Given the description of an element on the screen output the (x, y) to click on. 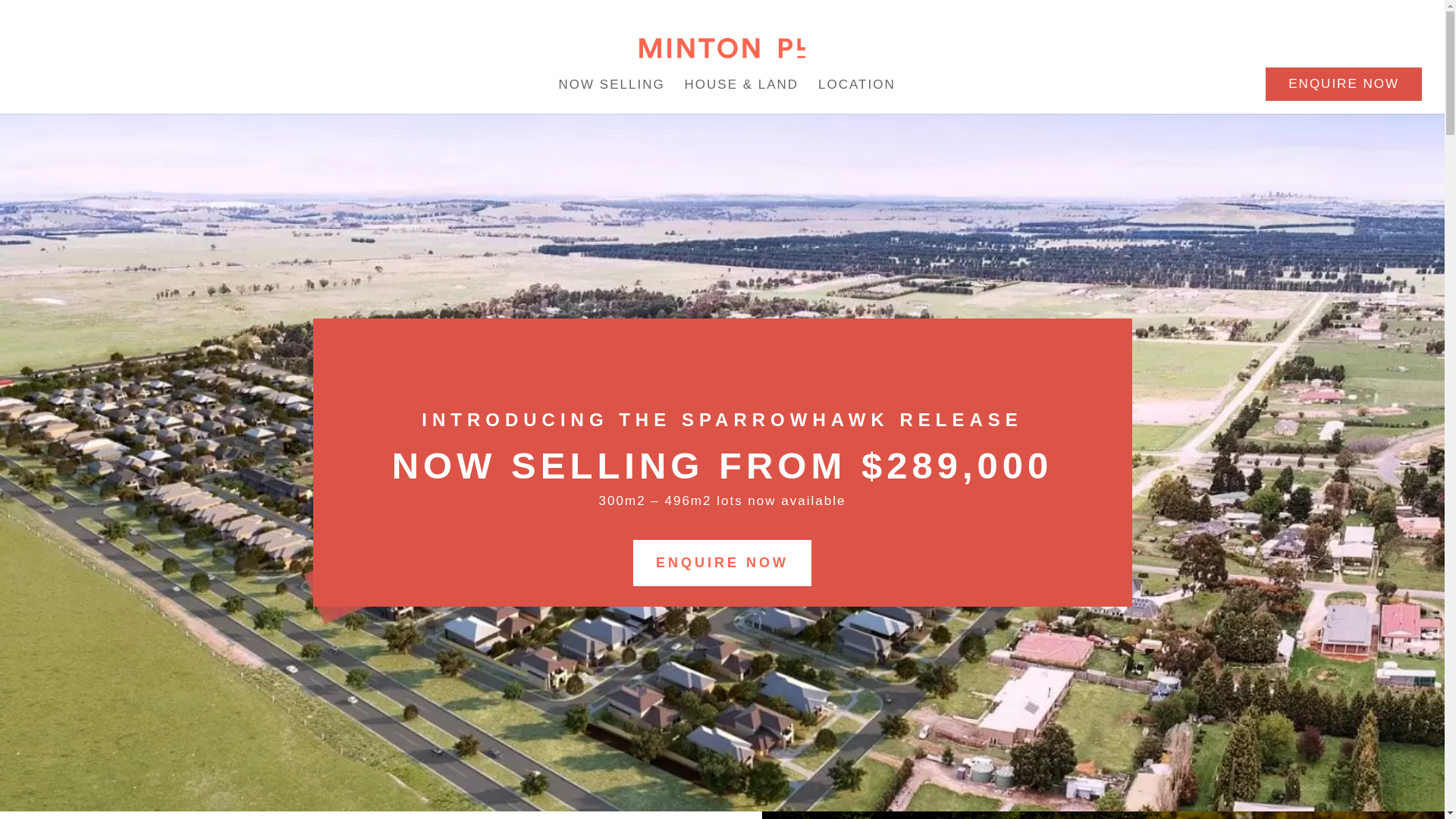
HOUSE & LAND Element type: text (741, 87)
ENQUIRE NOW Element type: text (722, 562)
LOCATION Element type: text (856, 87)
ENQUIRE NOW Element type: text (1343, 84)
NOW SELLING Element type: text (611, 87)
